Given the description of an element on the screen output the (x, y) to click on. 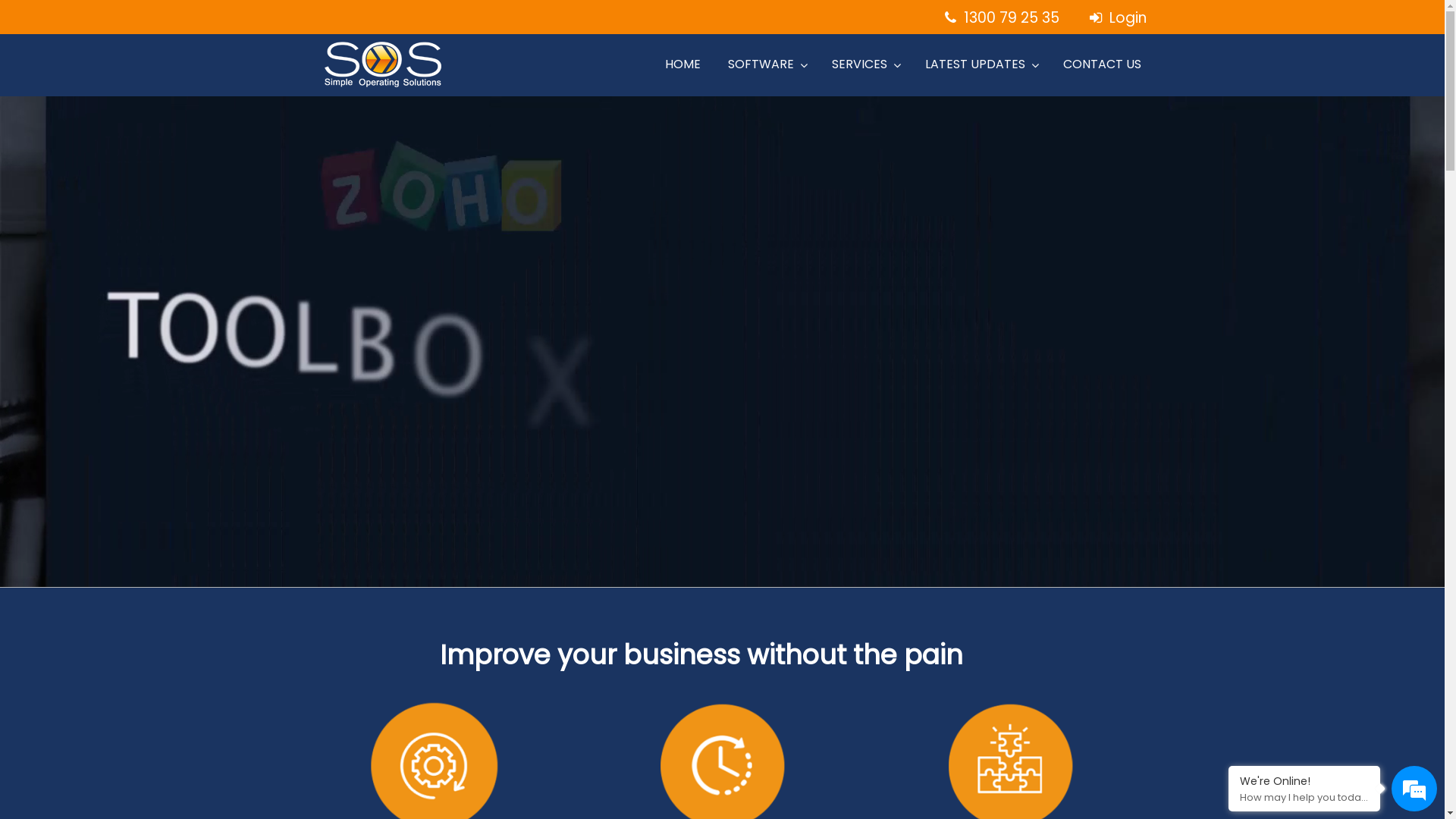
LATEST UPDATES Element type: text (980, 64)
SOFTWARE Element type: text (766, 64)
HOME Element type: text (681, 64)
SERVICES Element type: text (863, 64)
CONTACT US Element type: text (1101, 64)
1300 79 25 35 Element type: text (1001, 18)
Login Element type: text (1109, 18)
